Given the description of an element on the screen output the (x, y) to click on. 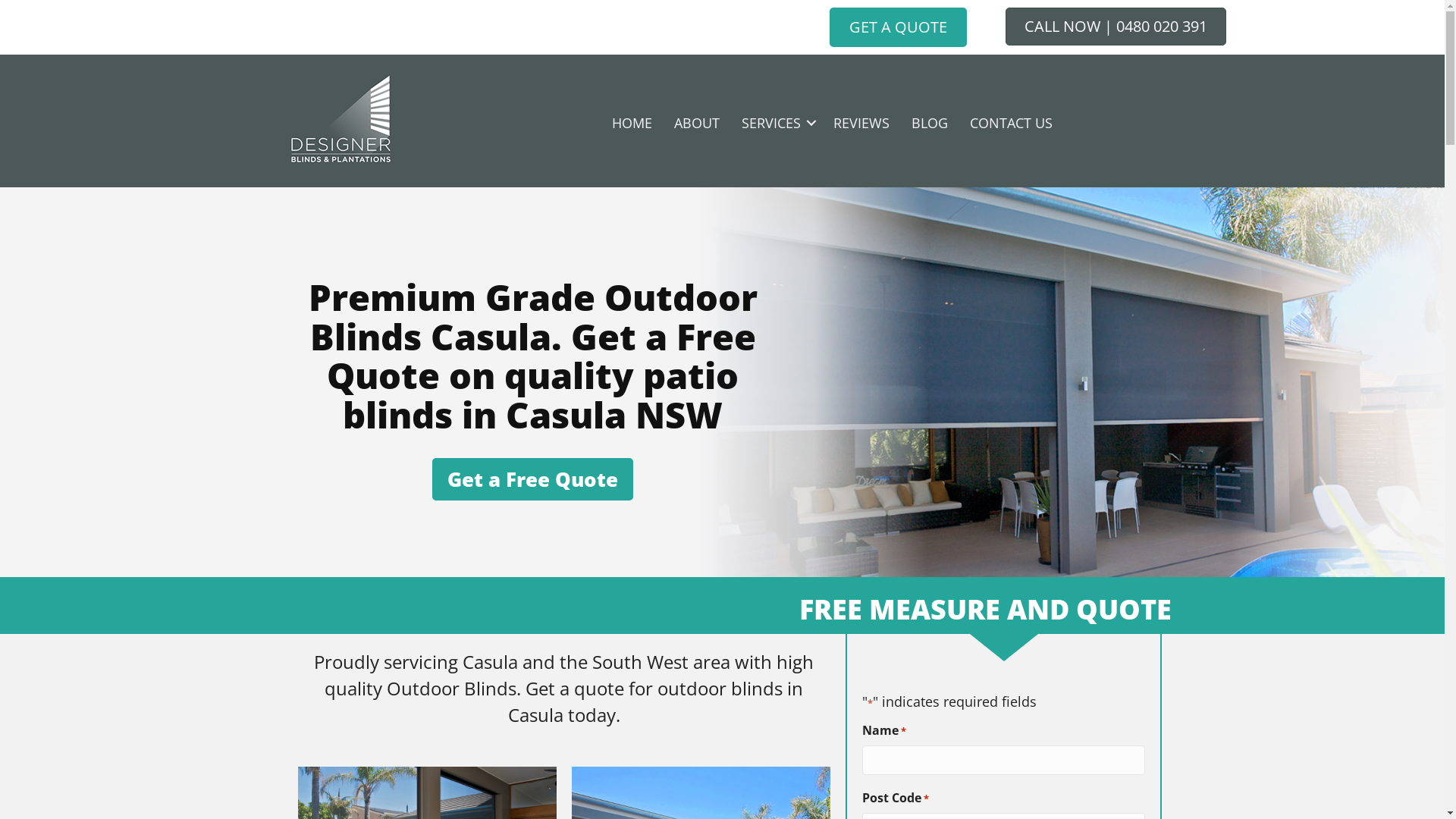
Get a Free Quote Element type: text (532, 479)
SERVICES Element type: text (776, 122)
GET A QUOTE Element type: text (897, 27)
BLOG Element type: text (929, 122)
CALL NOW | 0480 020 391 Element type: text (1115, 26)
arrow-2 Element type: hover (1003, 647)
HOME Element type: text (631, 122)
REVIEWS Element type: text (860, 122)
CONTACT US Element type: text (1010, 122)
ABOUT Element type: text (695, 122)
designer-blinds-plantations Element type: hover (338, 122)
